Given the description of an element on the screen output the (x, y) to click on. 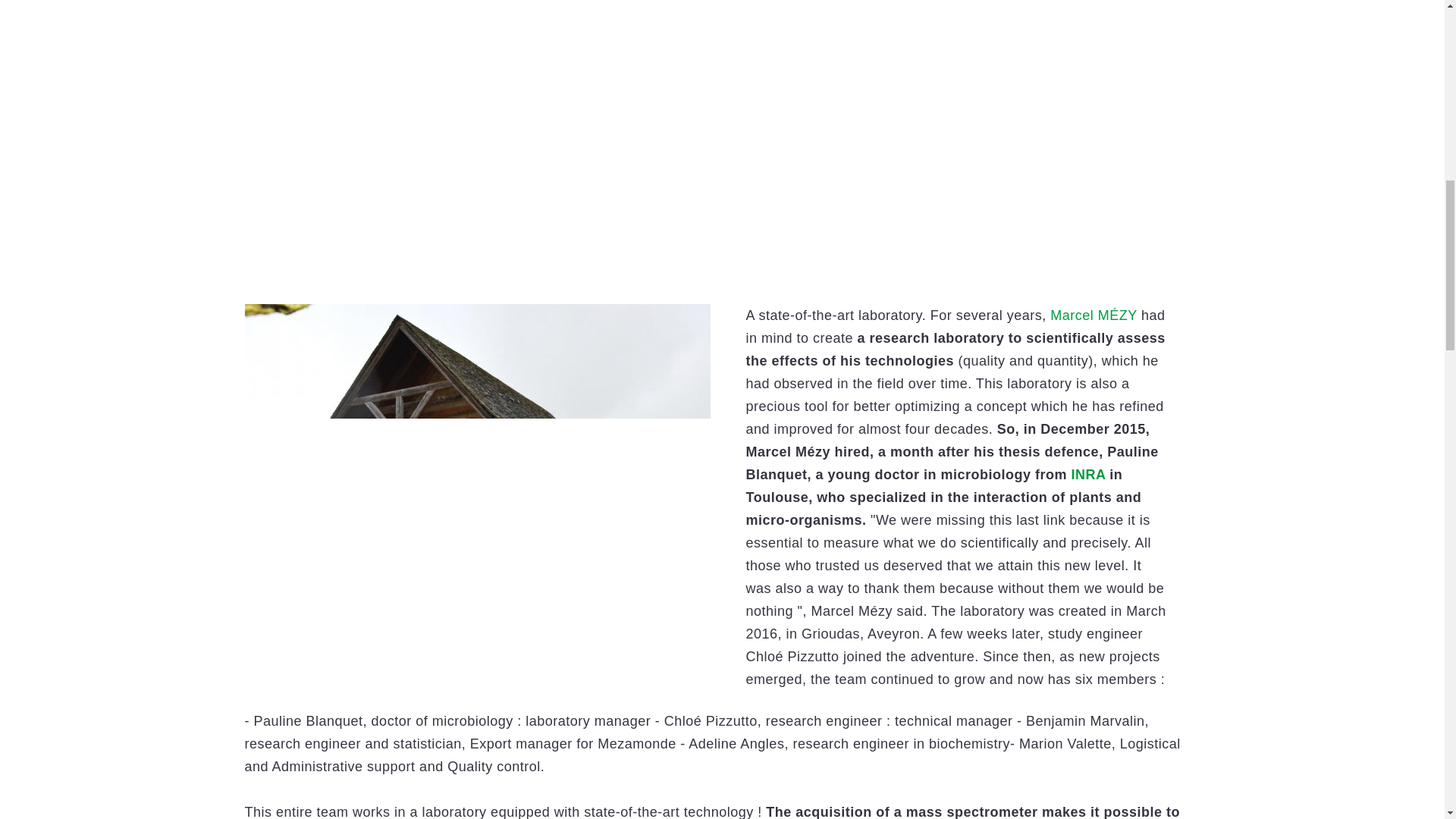
INRA (1088, 474)
